Given the description of an element on the screen output the (x, y) to click on. 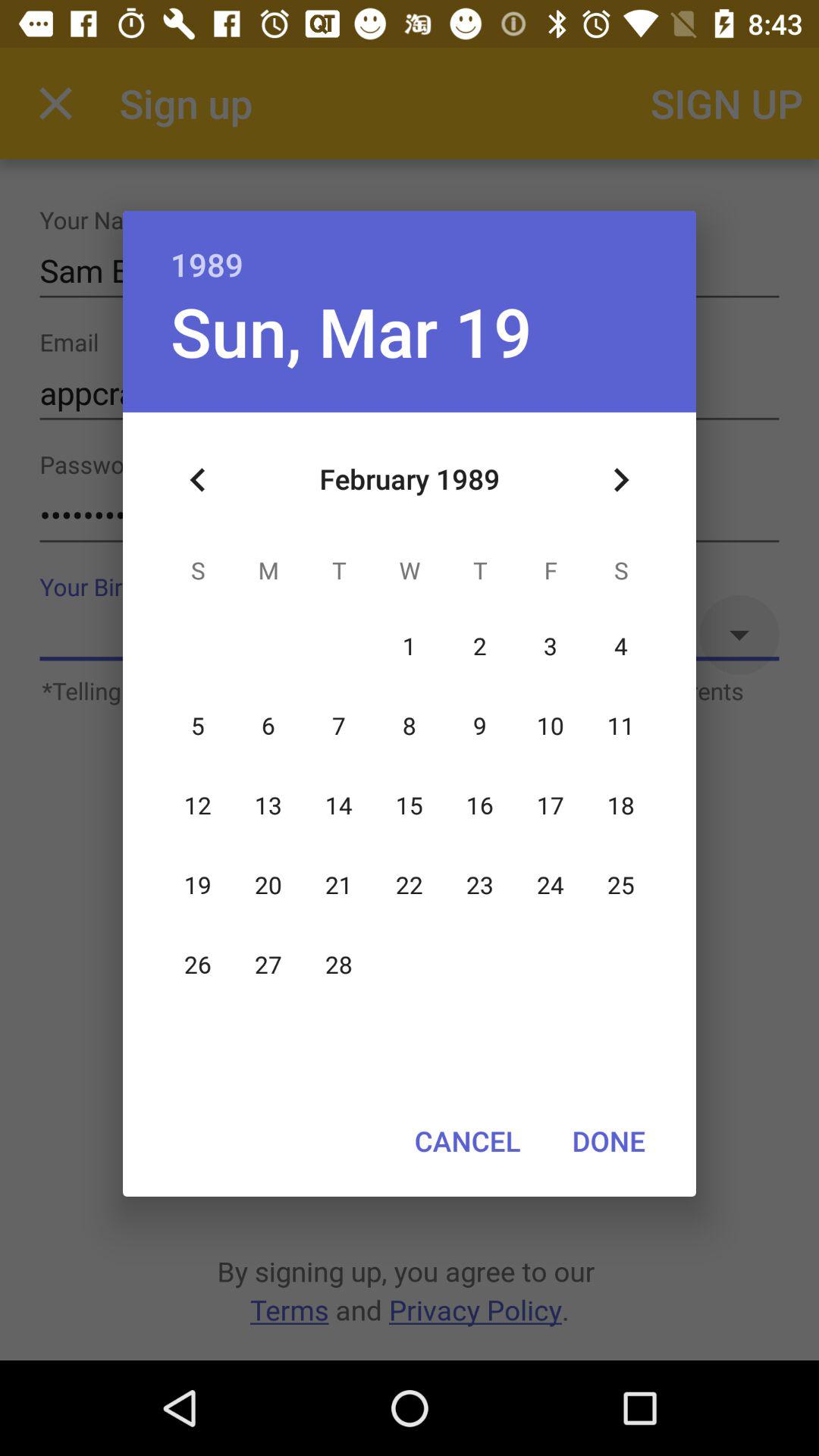
turn on item below 1989 icon (620, 479)
